Given the description of an element on the screen output the (x, y) to click on. 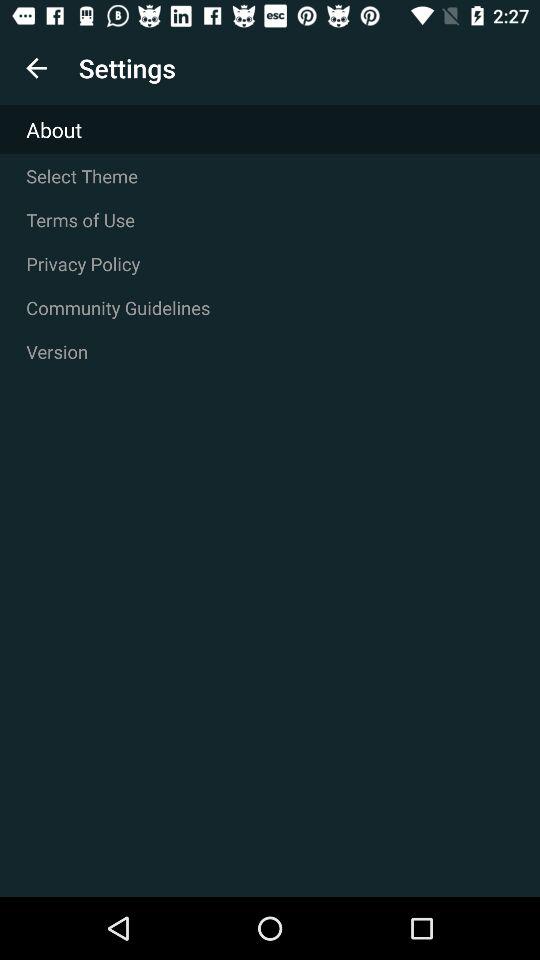
select privacy policy item (270, 263)
